Given the description of an element on the screen output the (x, y) to click on. 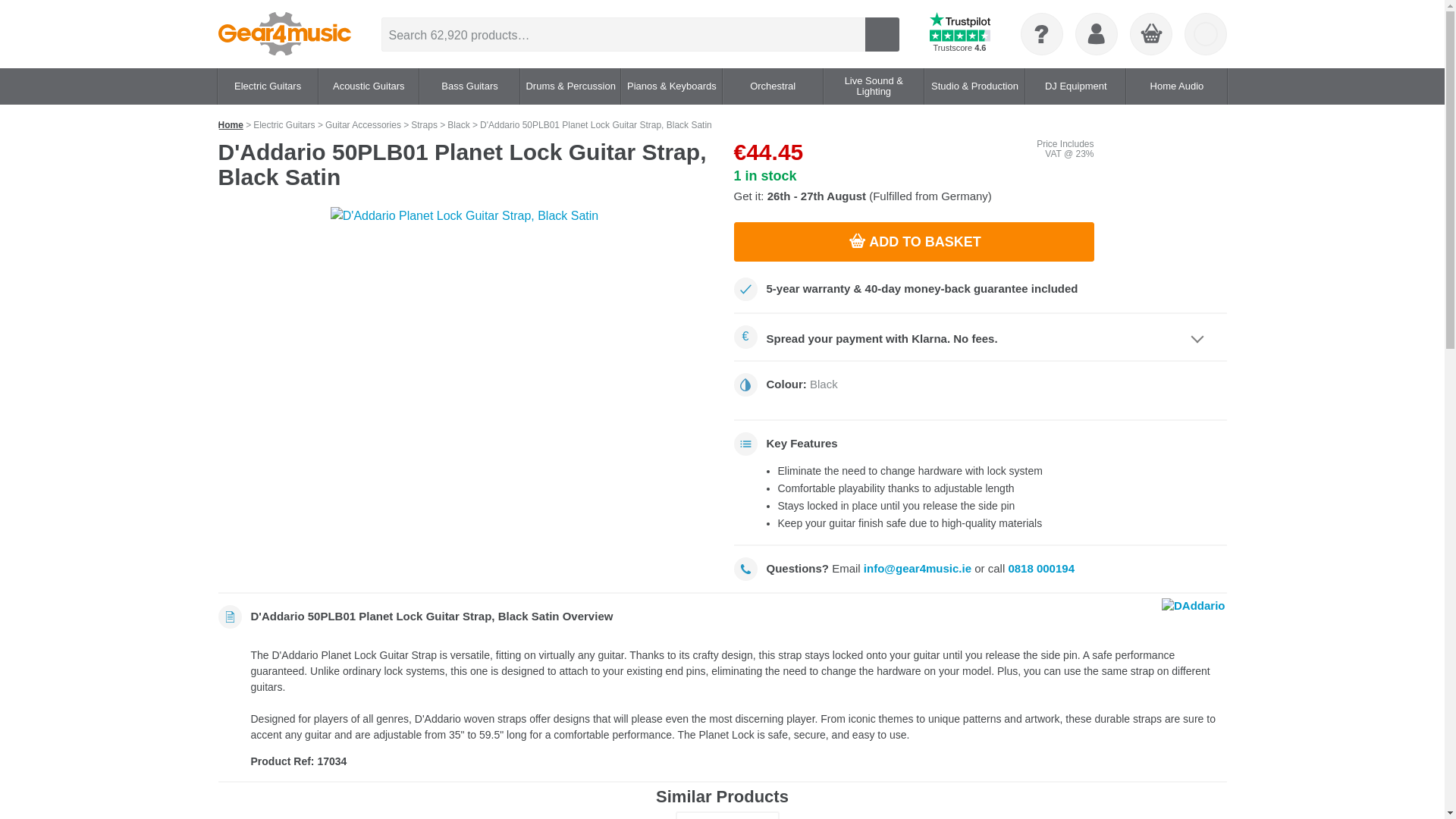
Basket (1150, 34)
Log In (1095, 33)
Search (881, 33)
Trustscore 4.6 (960, 34)
Electric Guitars (267, 85)
Click for Gear4music home (284, 34)
